Given the description of an element on the screen output the (x, y) to click on. 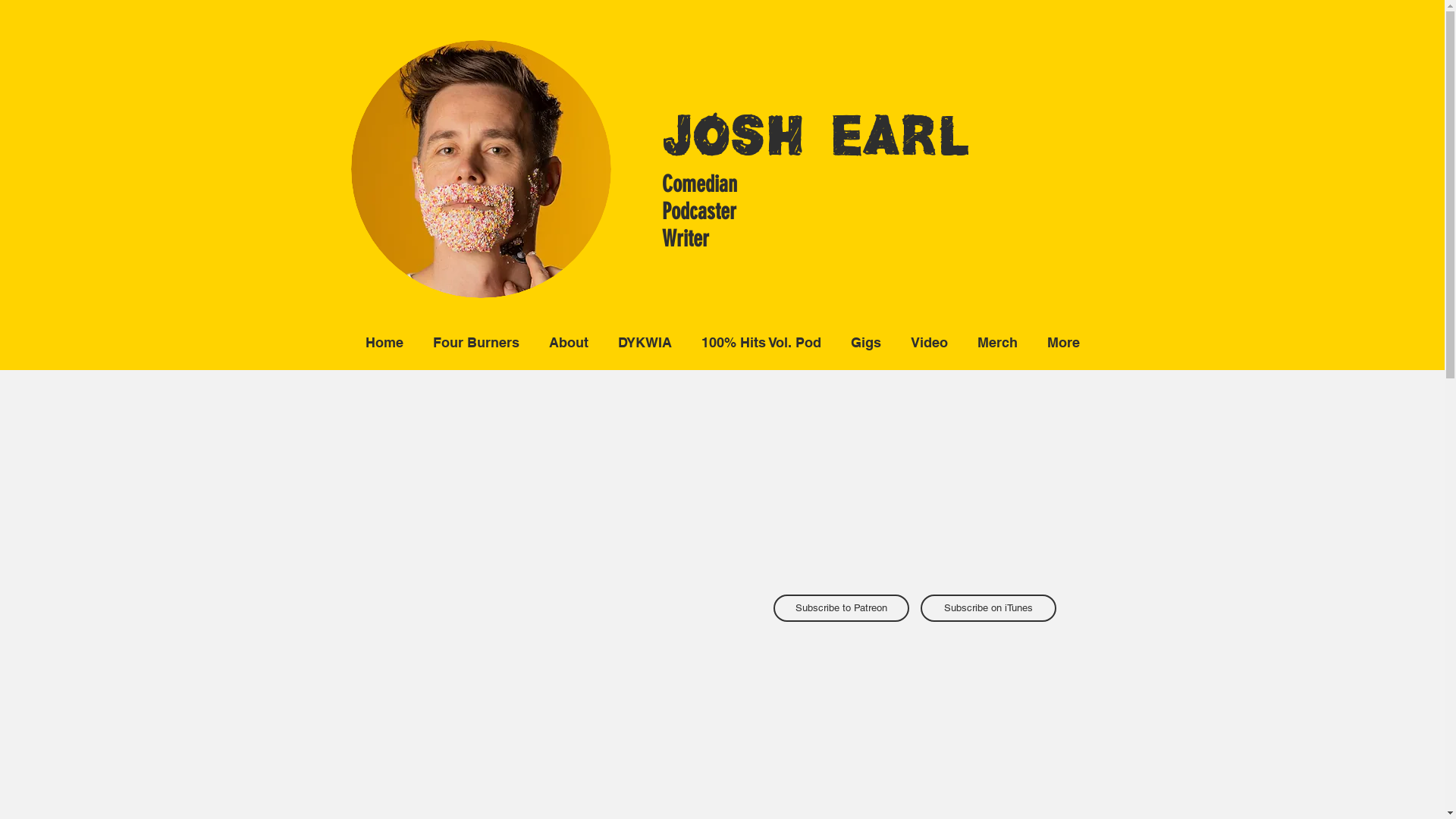
DYKWIA Element type: text (645, 342)
JOSH EARL Element type: text (814, 141)
About Element type: text (567, 342)
Video Element type: text (929, 342)
Home Element type: text (383, 342)
Podcaster Element type: text (698, 211)
Comedian Element type: text (698, 183)
Four Burners Element type: text (476, 342)
Merch Element type: text (997, 342)
Gigs Element type: text (865, 342)
Subscribe to Patreon Element type: text (841, 607)
Subscribe on iTunes Element type: text (988, 607)
100% Hits Vol. Pod Element type: text (761, 342)
